Given the description of an element on the screen output the (x, y) to click on. 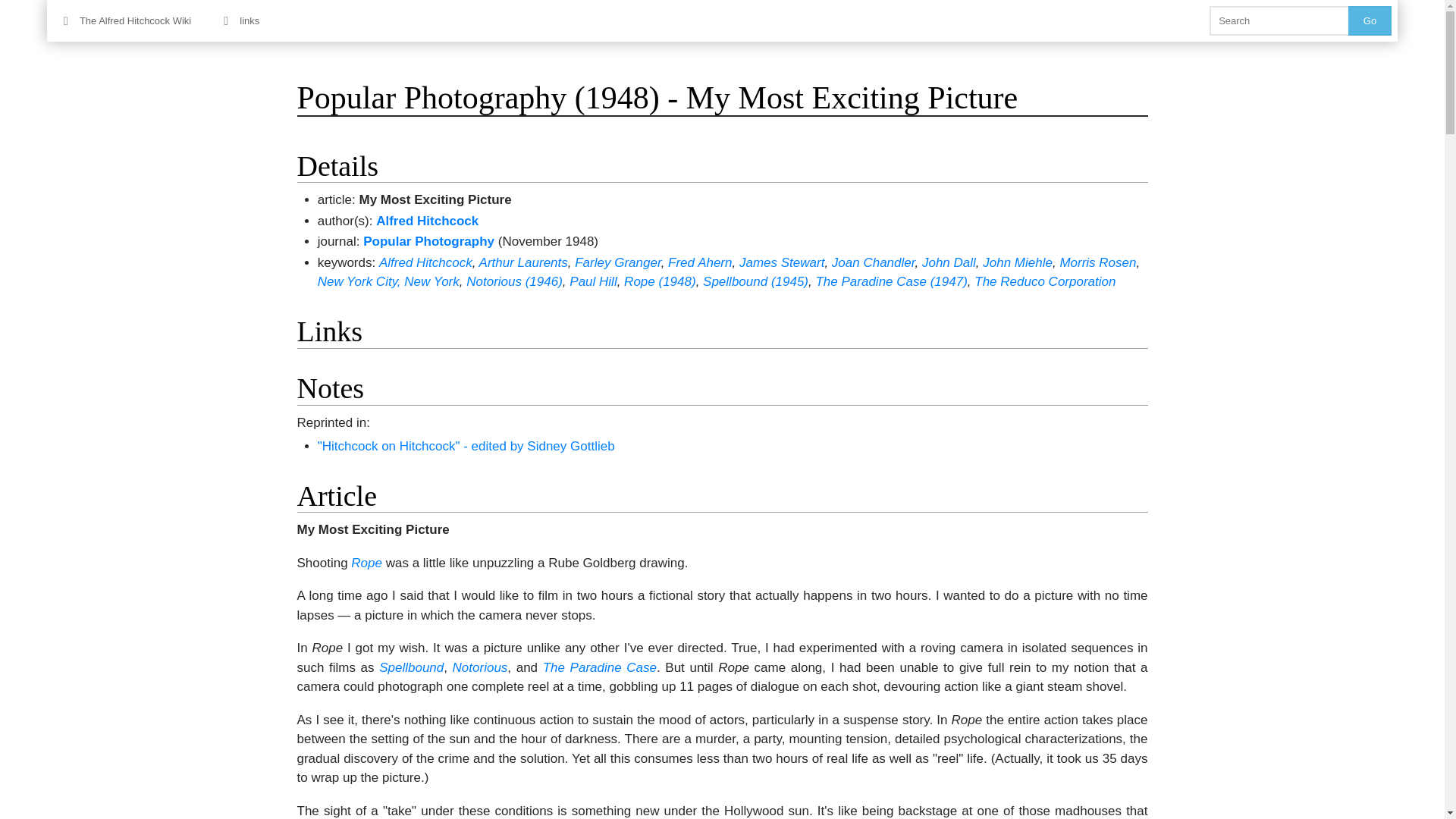
Popular Photography (428, 241)
Paul Hill (592, 281)
Paul Hill (592, 281)
Farley Granger (618, 262)
Alfred Hitchcock (424, 262)
James Stewart (781, 262)
Arthur Laurents (523, 262)
The Reduco Corporation (1044, 281)
Fred Ahern (700, 262)
New York City, New York (388, 281)
